Given the description of an element on the screen output the (x, y) to click on. 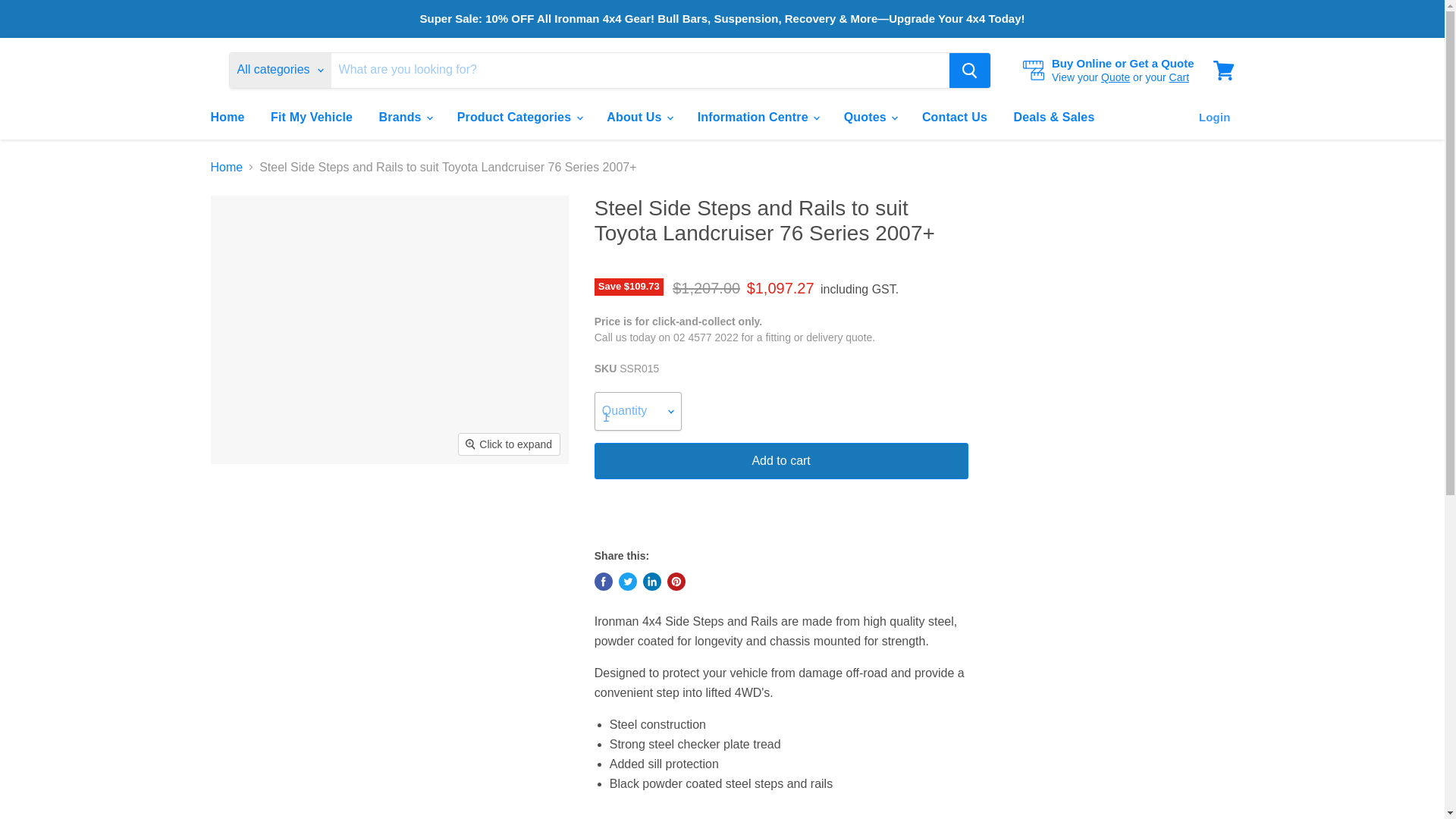
Home (227, 117)
Quote (1114, 77)
Request for quote (1114, 77)
View cart (1223, 70)
Cart (1179, 77)
Product Categories (518, 117)
Fit My Vehicle (311, 117)
Brands (405, 117)
